Given the description of an element on the screen output the (x, y) to click on. 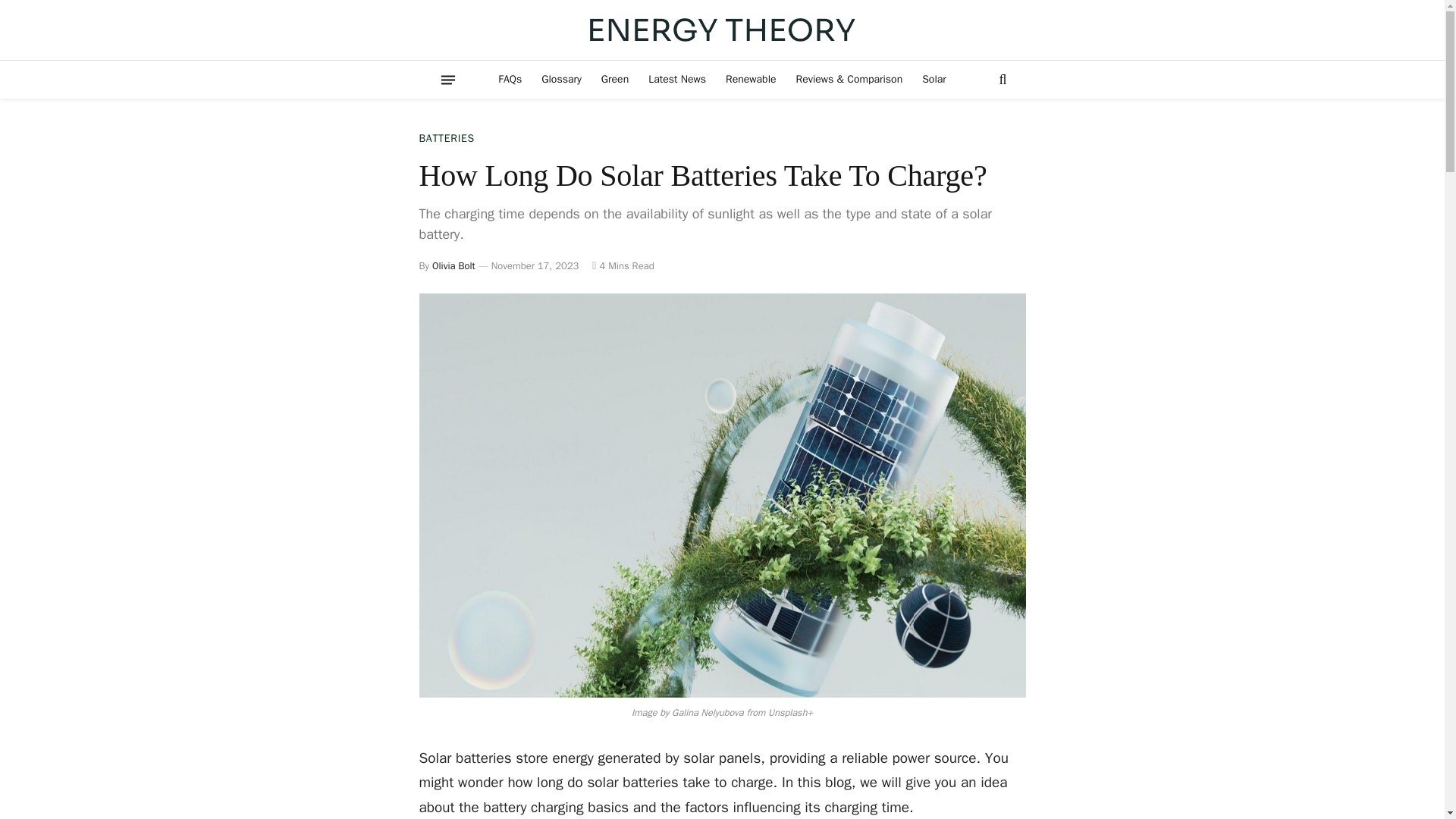
Renewable (751, 79)
Latest News (677, 79)
Glossary (561, 79)
Olivia Bolt (454, 265)
Energy Theory (722, 29)
Green (615, 79)
FAQs (509, 79)
Solar (934, 79)
BATTERIES (446, 138)
